Given the description of an element on the screen output the (x, y) to click on. 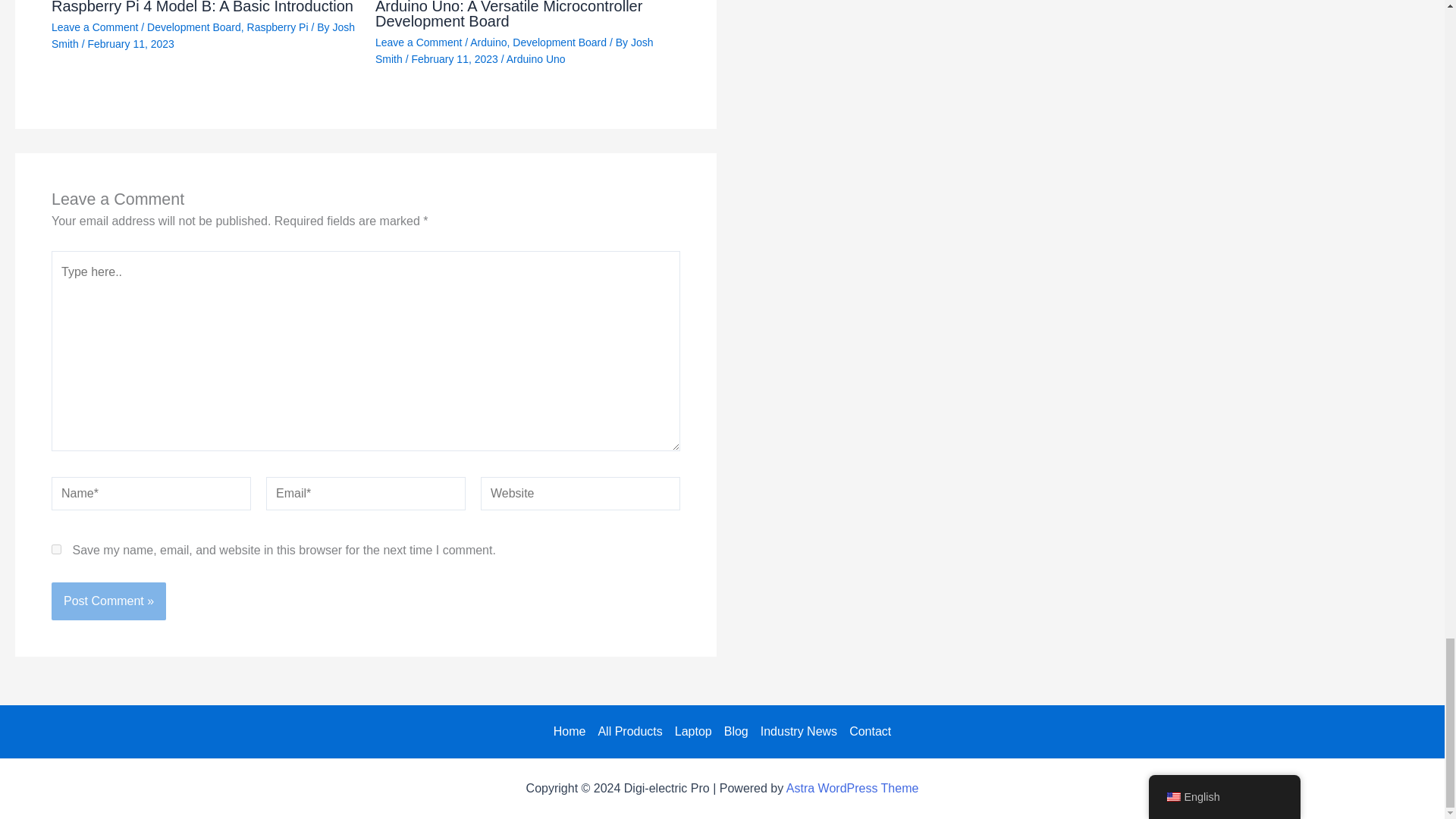
yes (55, 549)
View all posts by Josh Smith (202, 35)
View all posts by Josh Smith (514, 50)
